Given the description of an element on the screen output the (x, y) to click on. 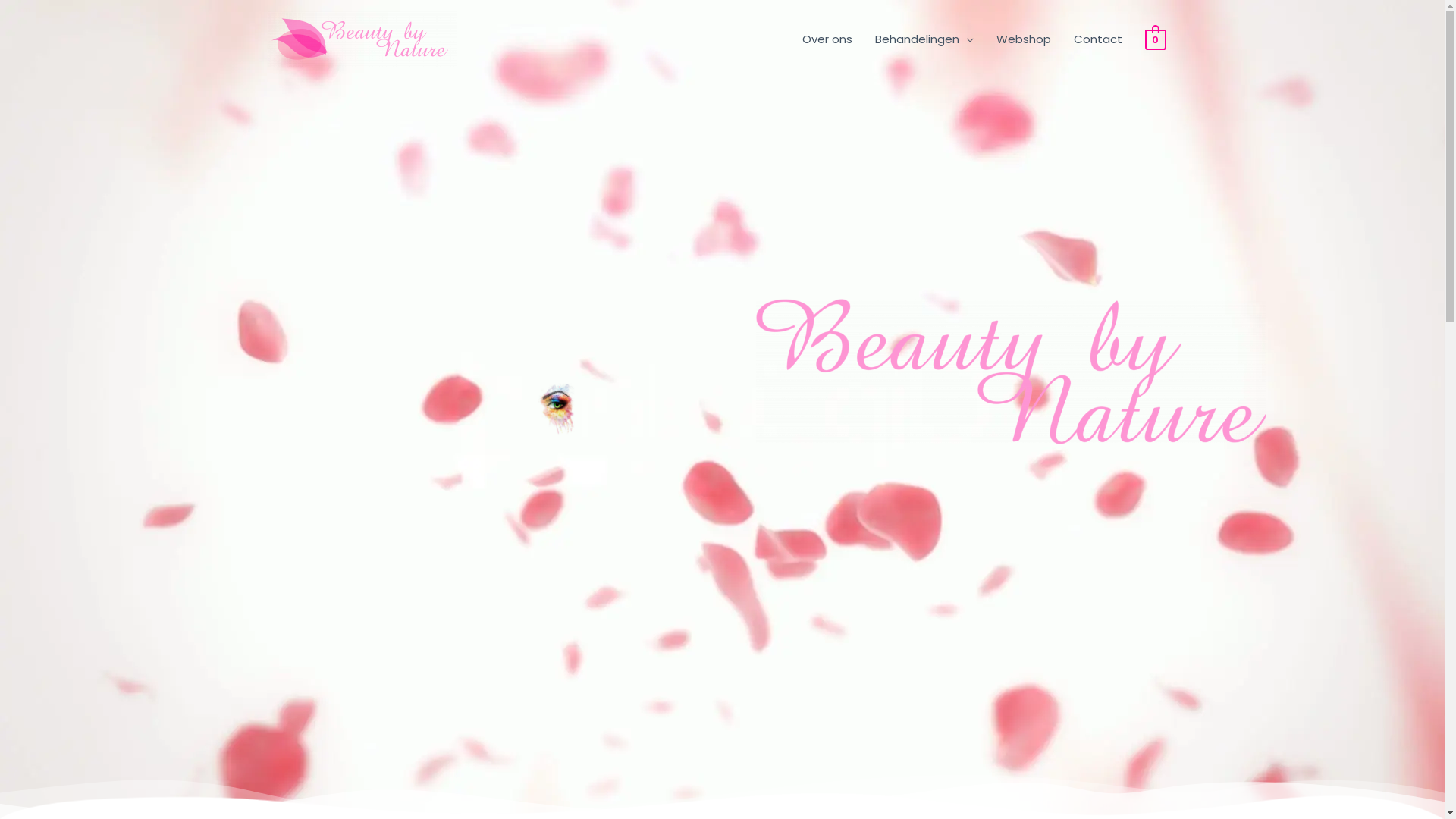
Over ons Element type: text (826, 39)
0 Element type: text (1155, 38)
Webshop Element type: text (1023, 39)
Contact Element type: text (1097, 39)
Behandelingen Element type: text (924, 39)
